Given the description of an element on the screen output the (x, y) to click on. 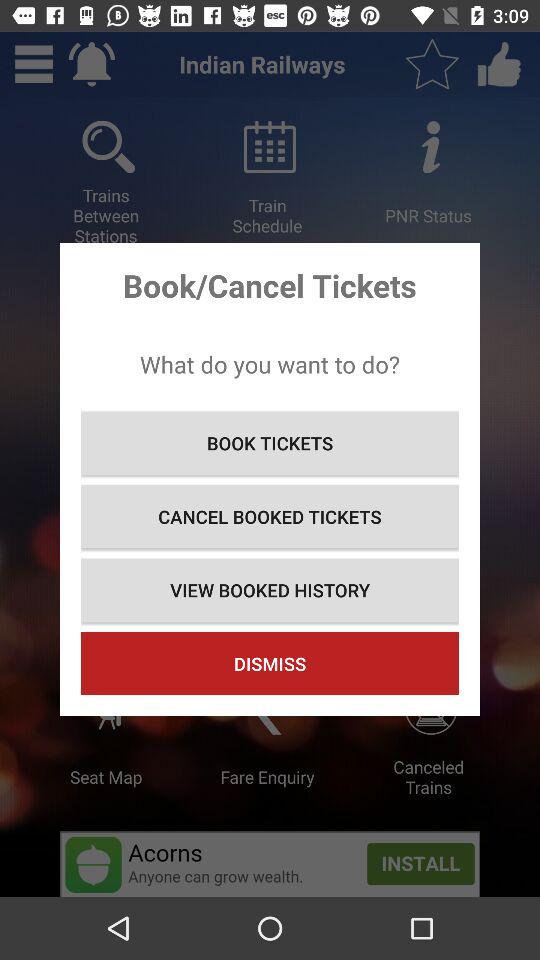
swipe to dismiss item (270, 663)
